Given the description of an element on the screen output the (x, y) to click on. 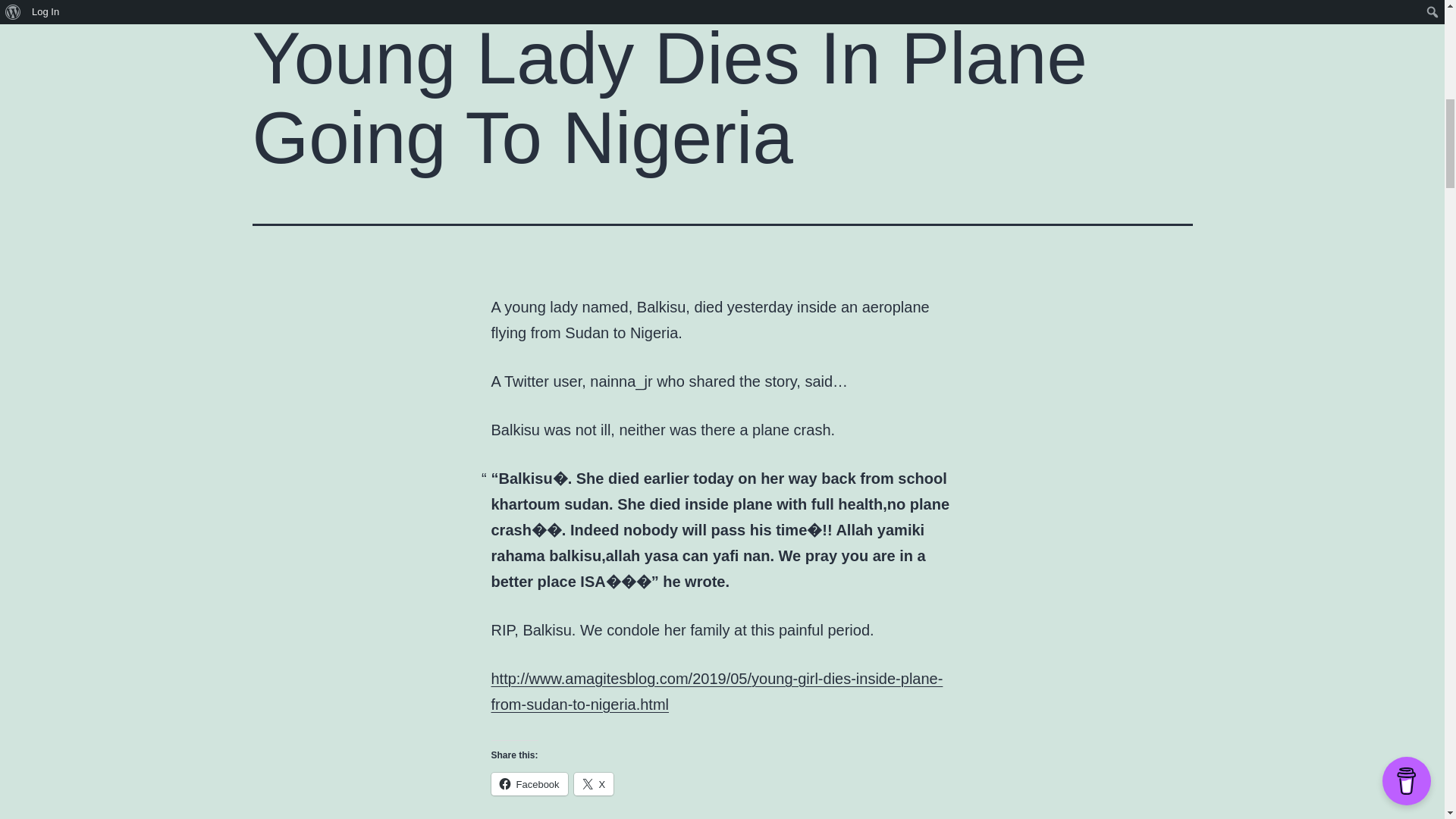
Click to share on X (593, 784)
Click to share on Facebook (529, 784)
